Given the description of an element on the screen output the (x, y) to click on. 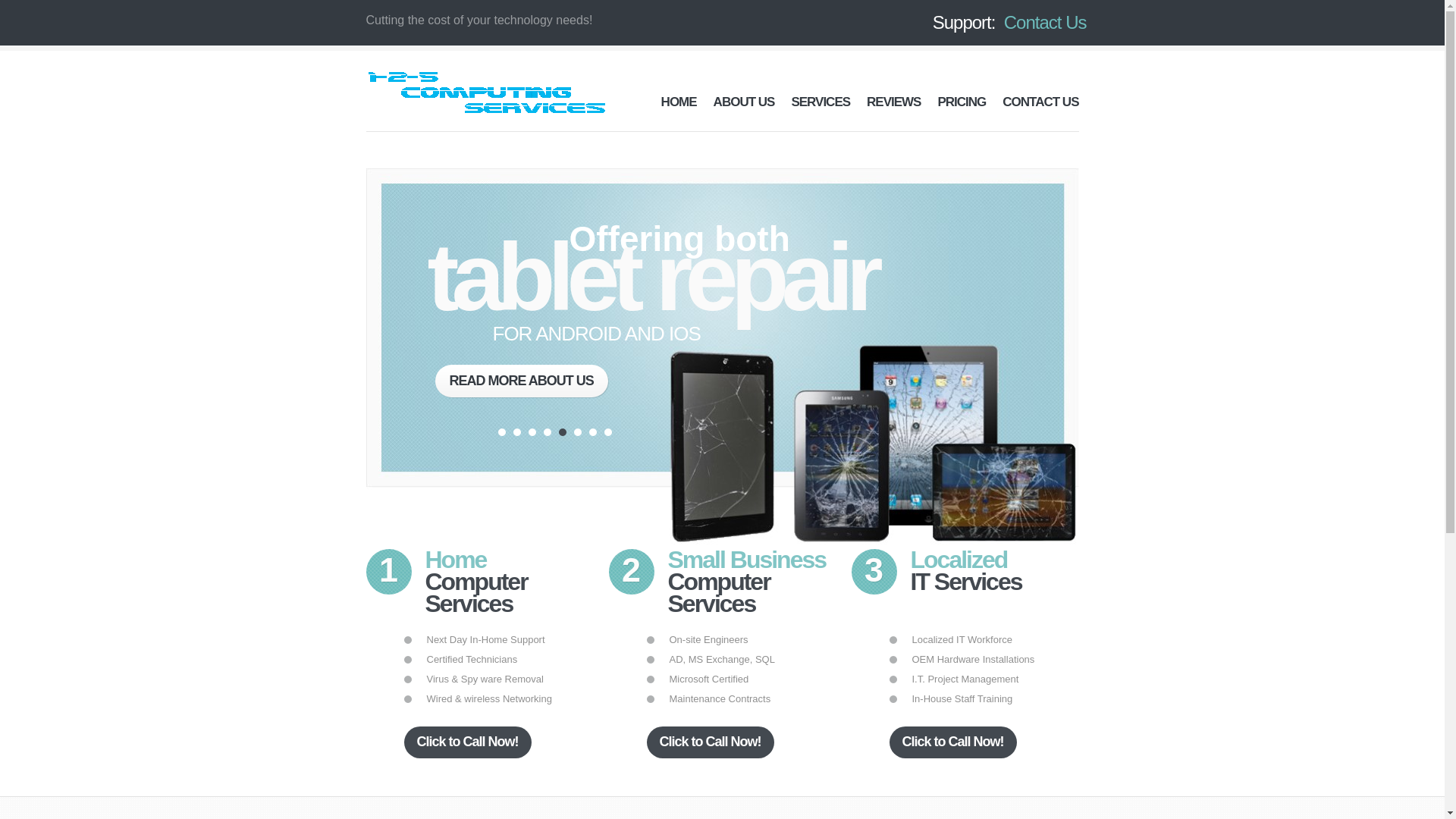
8 Element type: text (607, 432)
4 Element type: text (546, 432)
1 Element type: text (501, 432)
Contact Us Element type: text (1045, 22)
CONTACT US Element type: text (1040, 101)
6 Element type: text (576, 432)
PRICING Element type: text (961, 101)
5 Element type: text (561, 432)
Click to Call Now! Element type: text (466, 742)
REVIEWS Element type: text (893, 101)
ABOUT US Element type: text (744, 101)
HOME Element type: text (678, 101)
7 Element type: text (592, 432)
1-2-5 Computing Services Element type: text (485, 92)
3 Element type: text (531, 432)
Click to Call Now! Element type: text (709, 742)
Click to Call Now! Element type: text (952, 742)
SERVICES Element type: text (820, 101)
2 Element type: text (516, 432)
